Given the description of an element on the screen output the (x, y) to click on. 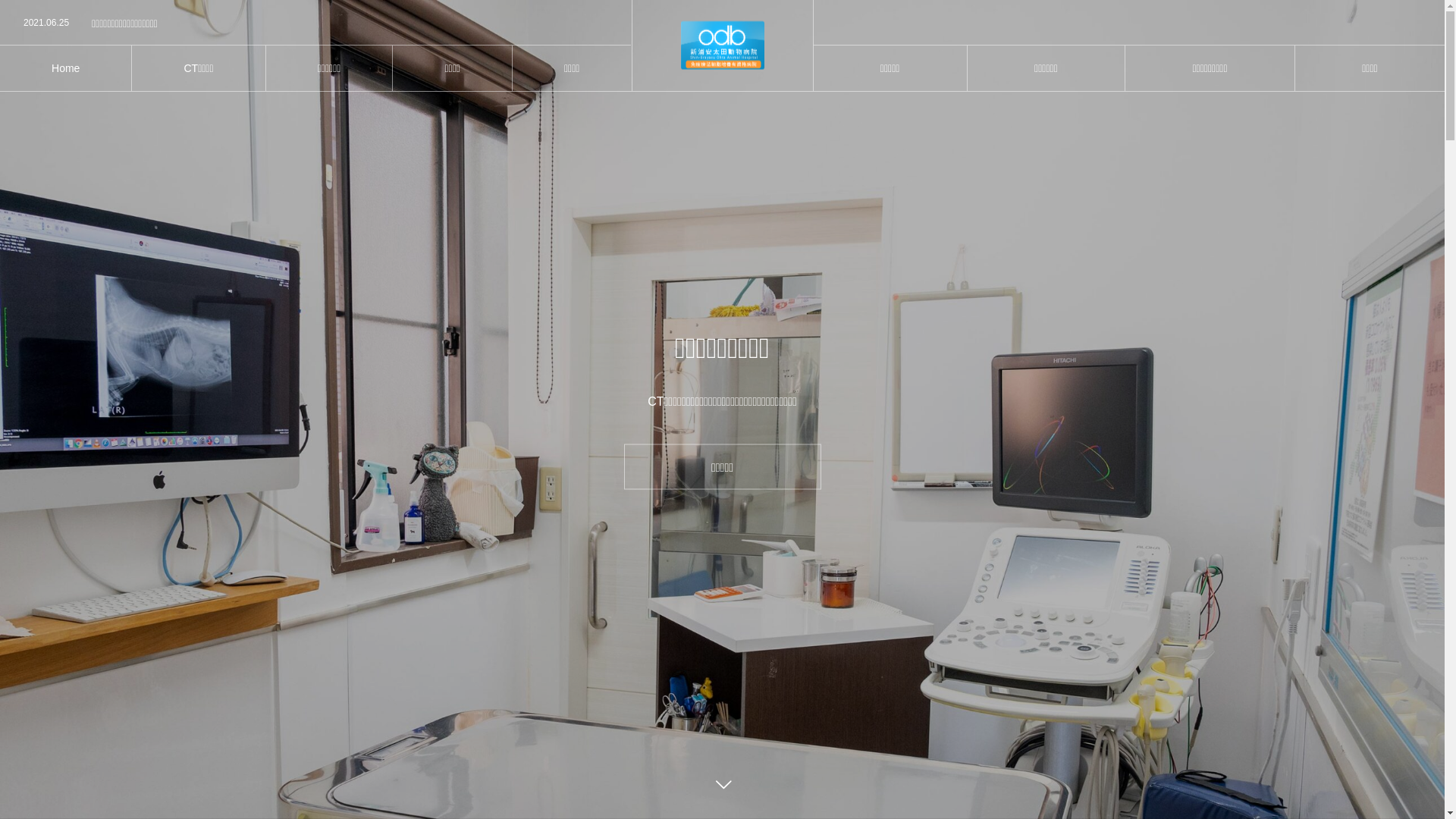
Home Element type: text (65, 67)
